Given the description of an element on the screen output the (x, y) to click on. 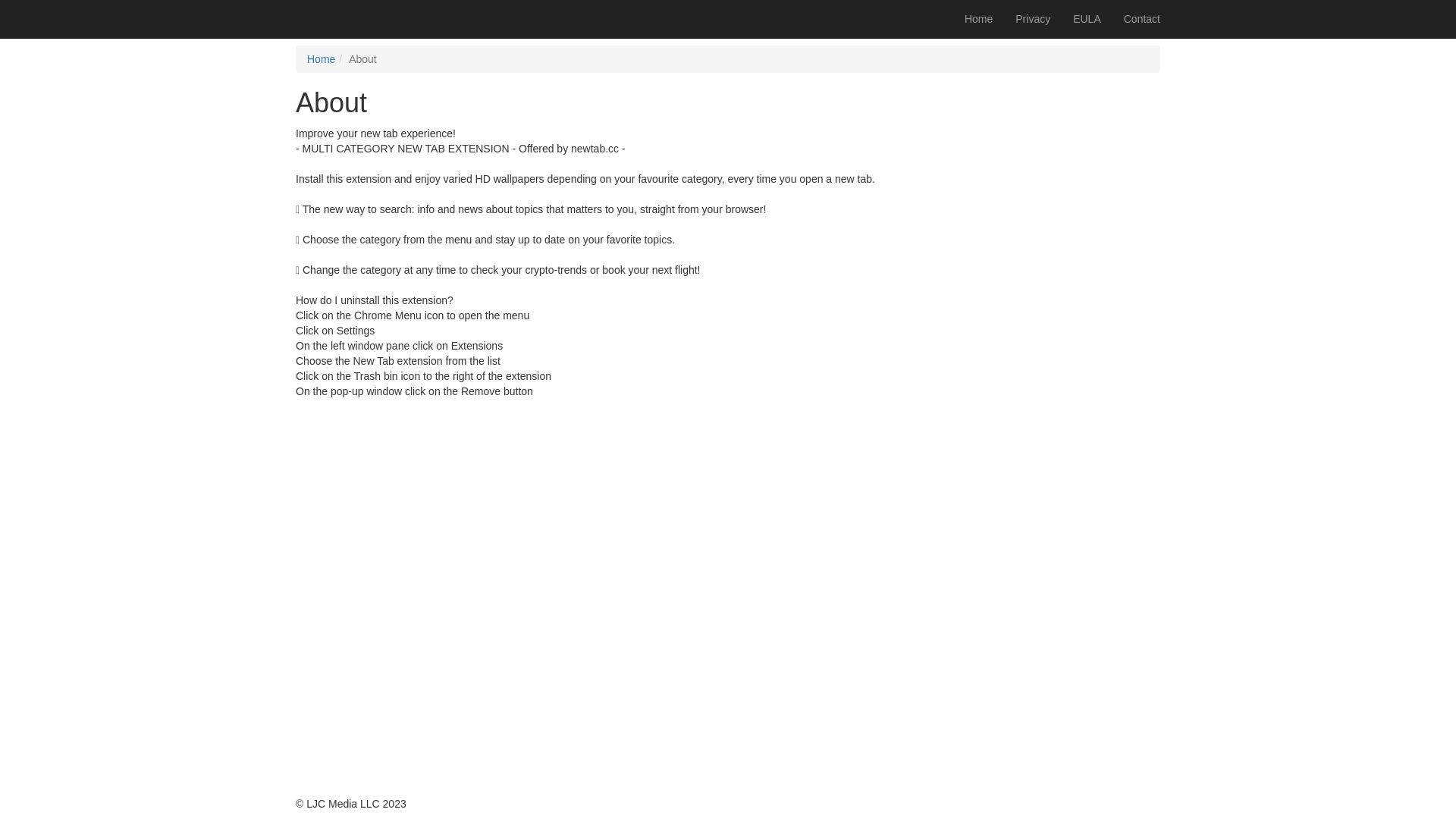
EULA Element type: text (1086, 18)
Home Element type: text (321, 59)
Contact Element type: text (1141, 18)
Privacy Element type: text (1032, 18)
Home Element type: text (978, 18)
